Given the description of an element on the screen output the (x, y) to click on. 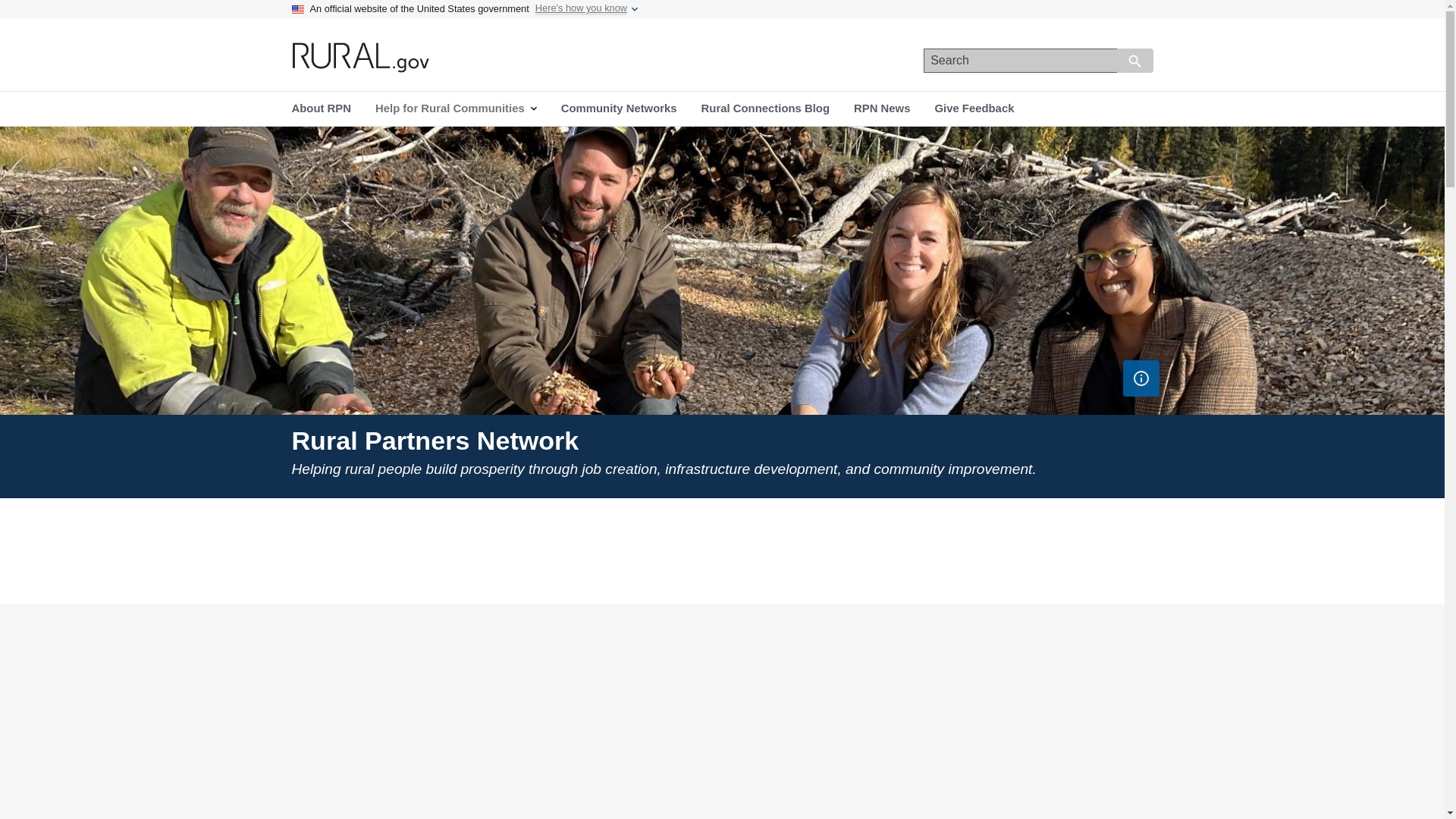
Here's how you know (581, 9)
Rural Connections Blog (764, 108)
Community Networks (618, 108)
Home (360, 57)
Help for Rural Communities (455, 108)
Caption Info (1140, 378)
Give Feedback (973, 108)
RPN News (881, 108)
About RPN (320, 108)
